Given the description of an element on the screen output the (x, y) to click on. 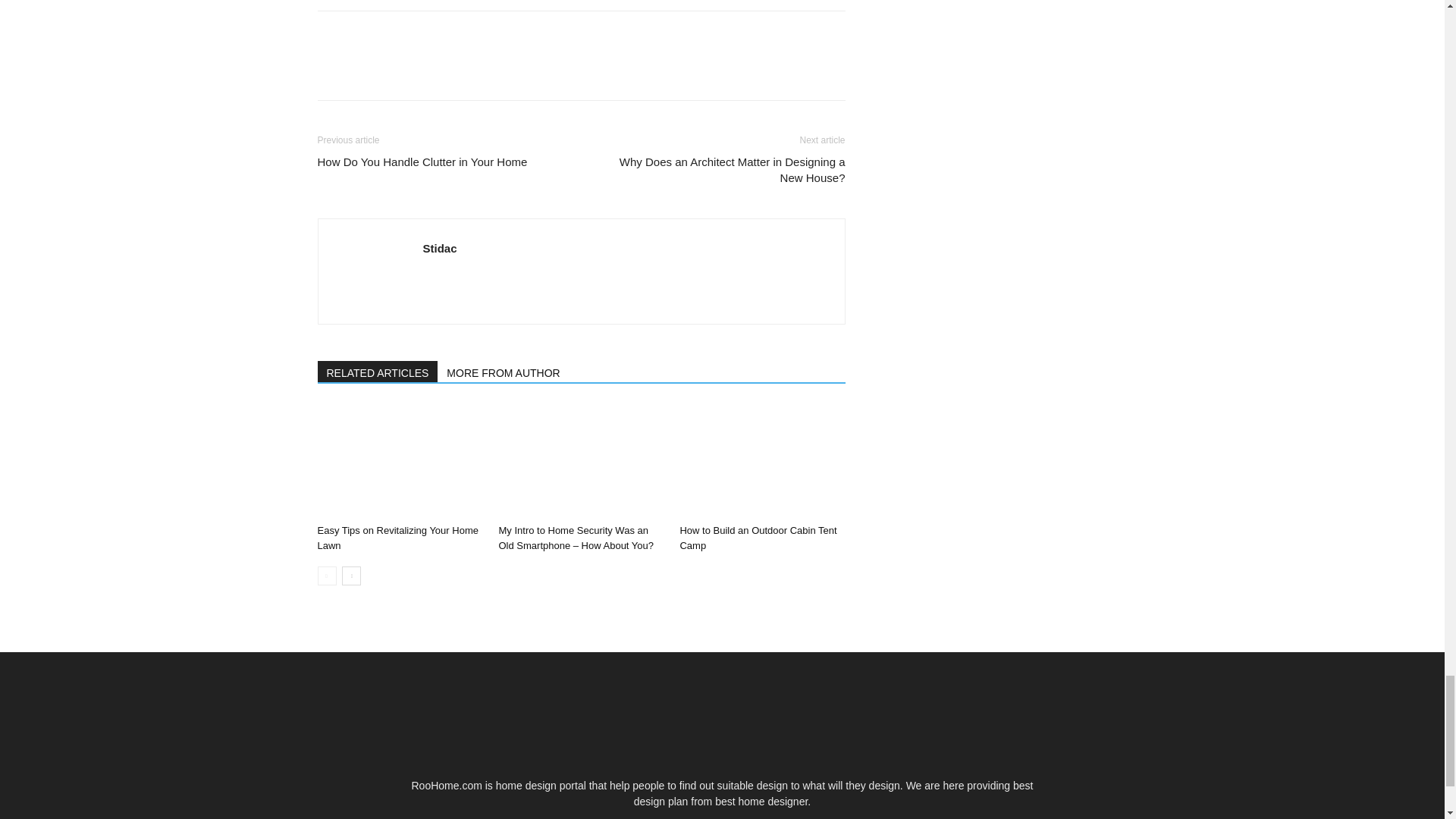
bottomFacebookLike (430, 35)
